Given the description of an element on the screen output the (x, y) to click on. 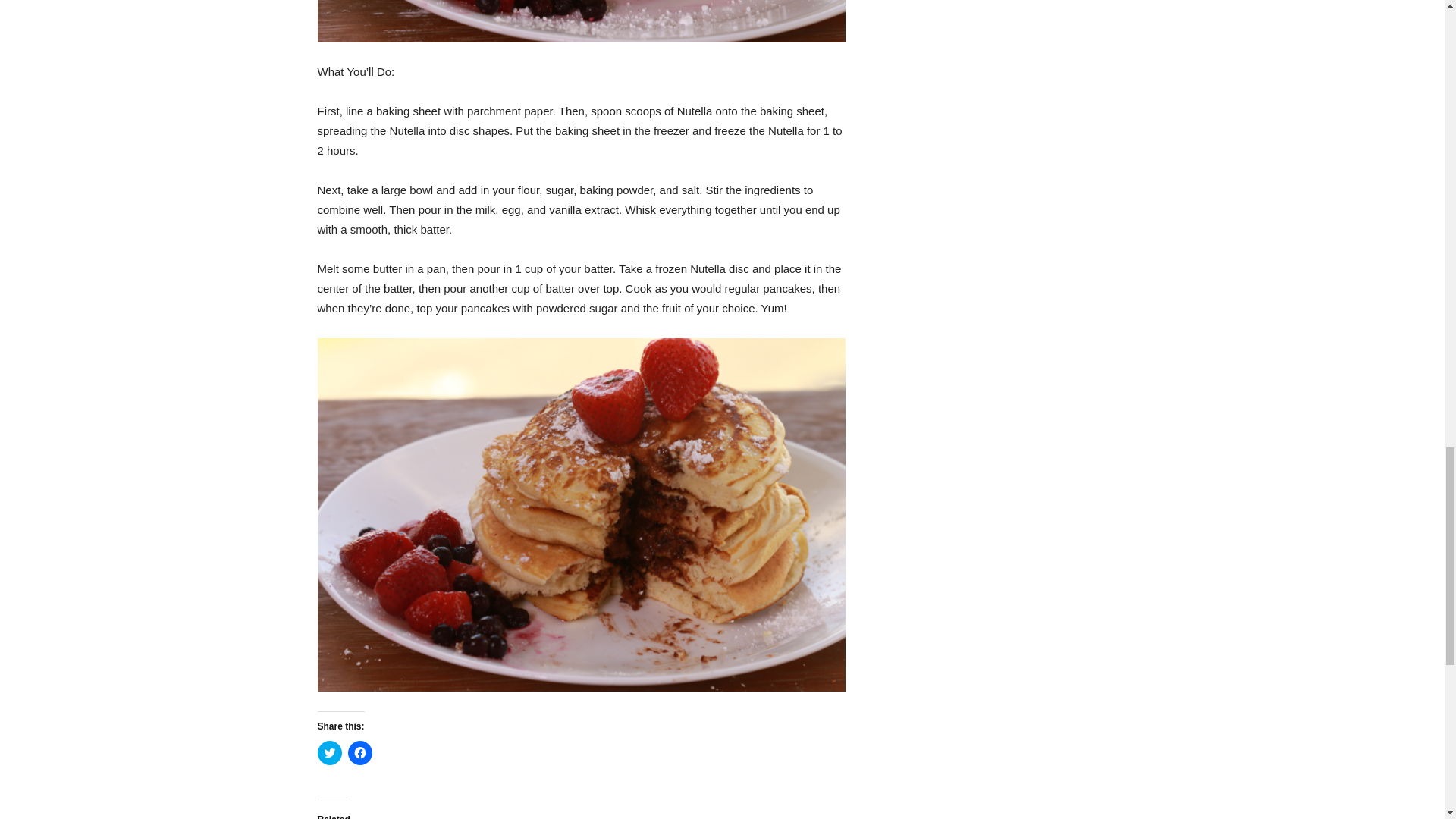
Click to share on Facebook (359, 752)
Click to share on Twitter (328, 752)
